Given the description of an element on the screen output the (x, y) to click on. 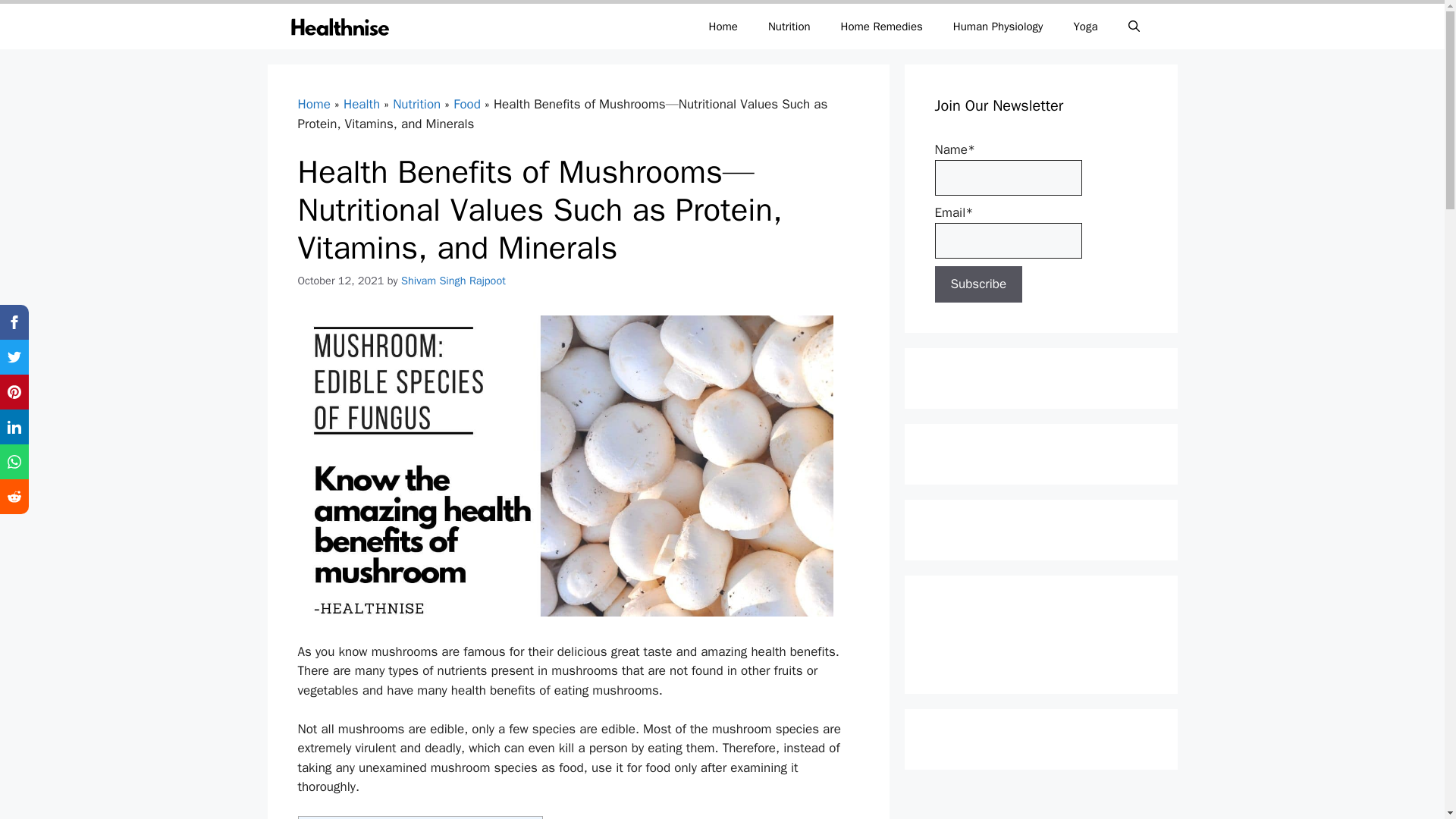
Subscribe (978, 284)
Home (313, 104)
Healthnise.com (339, 25)
Yoga (1085, 26)
Health (361, 104)
Nutrition (788, 26)
Food (466, 104)
Home (723, 26)
Shivam Singh Rajpoot (453, 280)
Nutrition (417, 104)
